Given the description of an element on the screen output the (x, y) to click on. 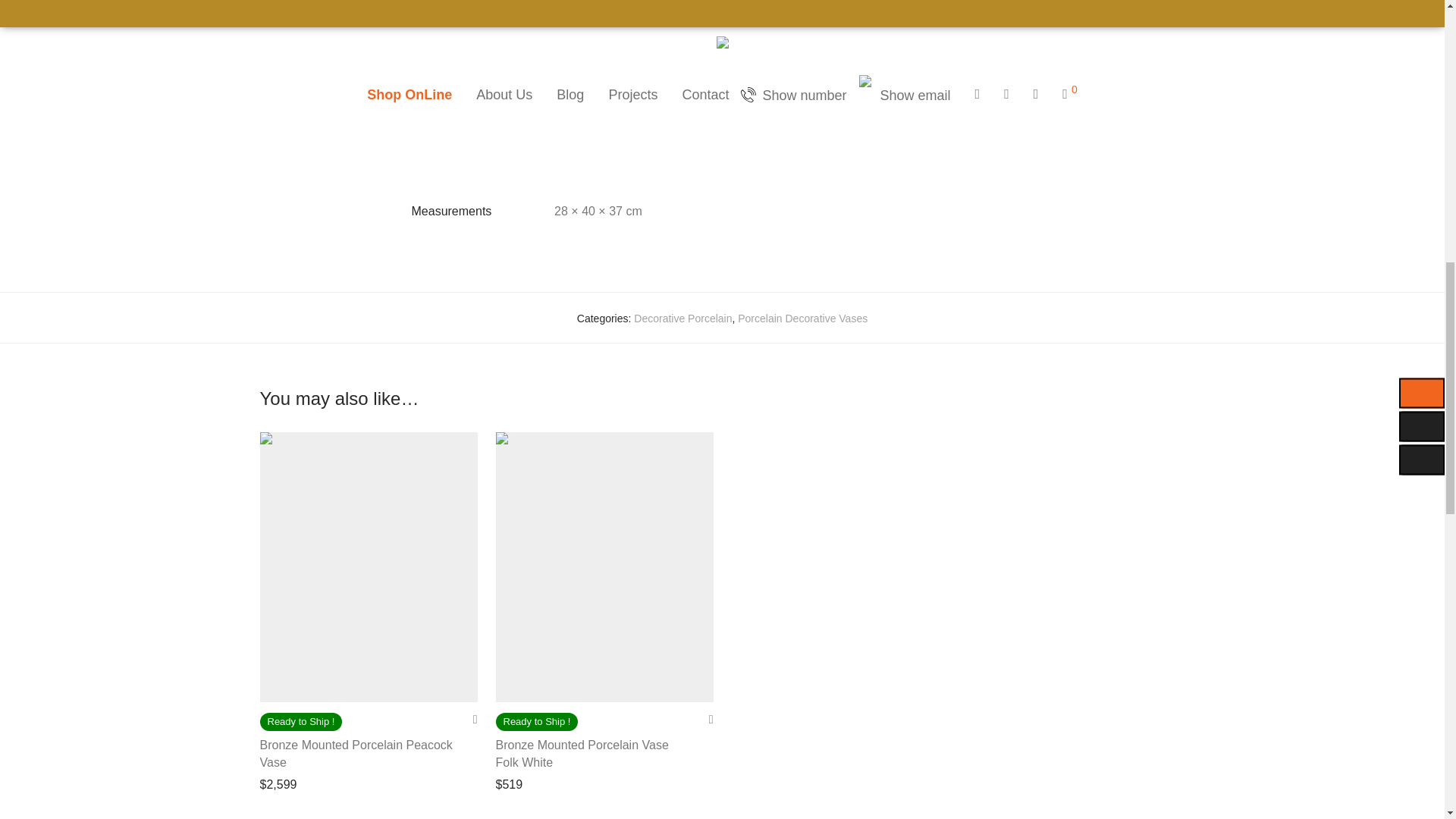
Add to Wishlist (705, 718)
Add to Wishlist (470, 718)
